Given the description of an element on the screen output the (x, y) to click on. 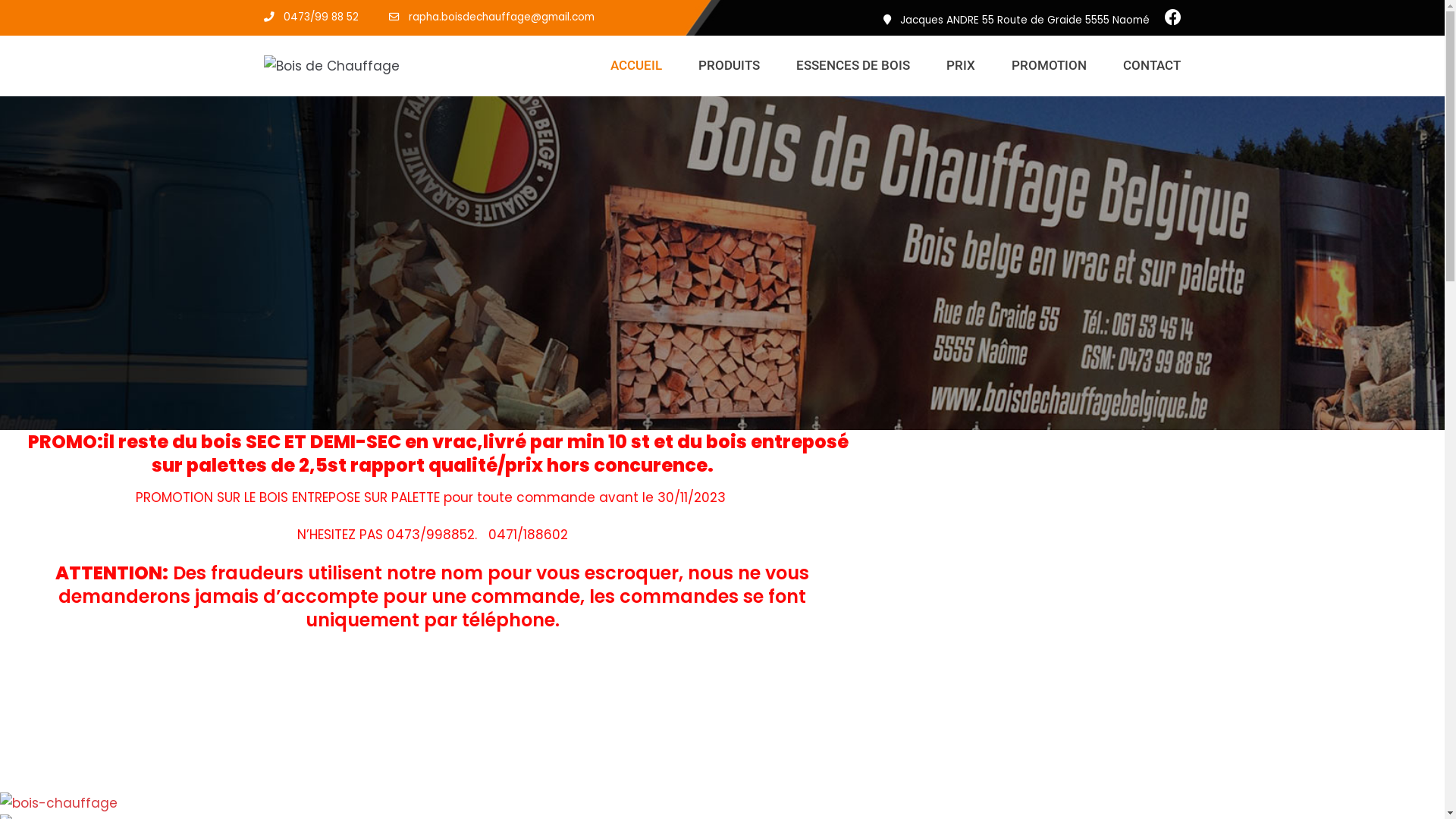
Bois de Chauffage Belgique Jacques ANDRE Element type: hover (331, 66)
CONTACT Element type: text (1151, 65)
PRIX Element type: text (960, 65)
PRODUITS Element type: text (728, 65)
ACCUEIL Element type: text (636, 65)
ESSENCES DE BOIS Element type: text (853, 65)
rapha.boisdechauffage@gmail.com Element type: text (500, 16)
Aller au contenu Element type: text (15, 31)
PROMOTION Element type: text (1048, 65)
